Given the description of an element on the screen output the (x, y) to click on. 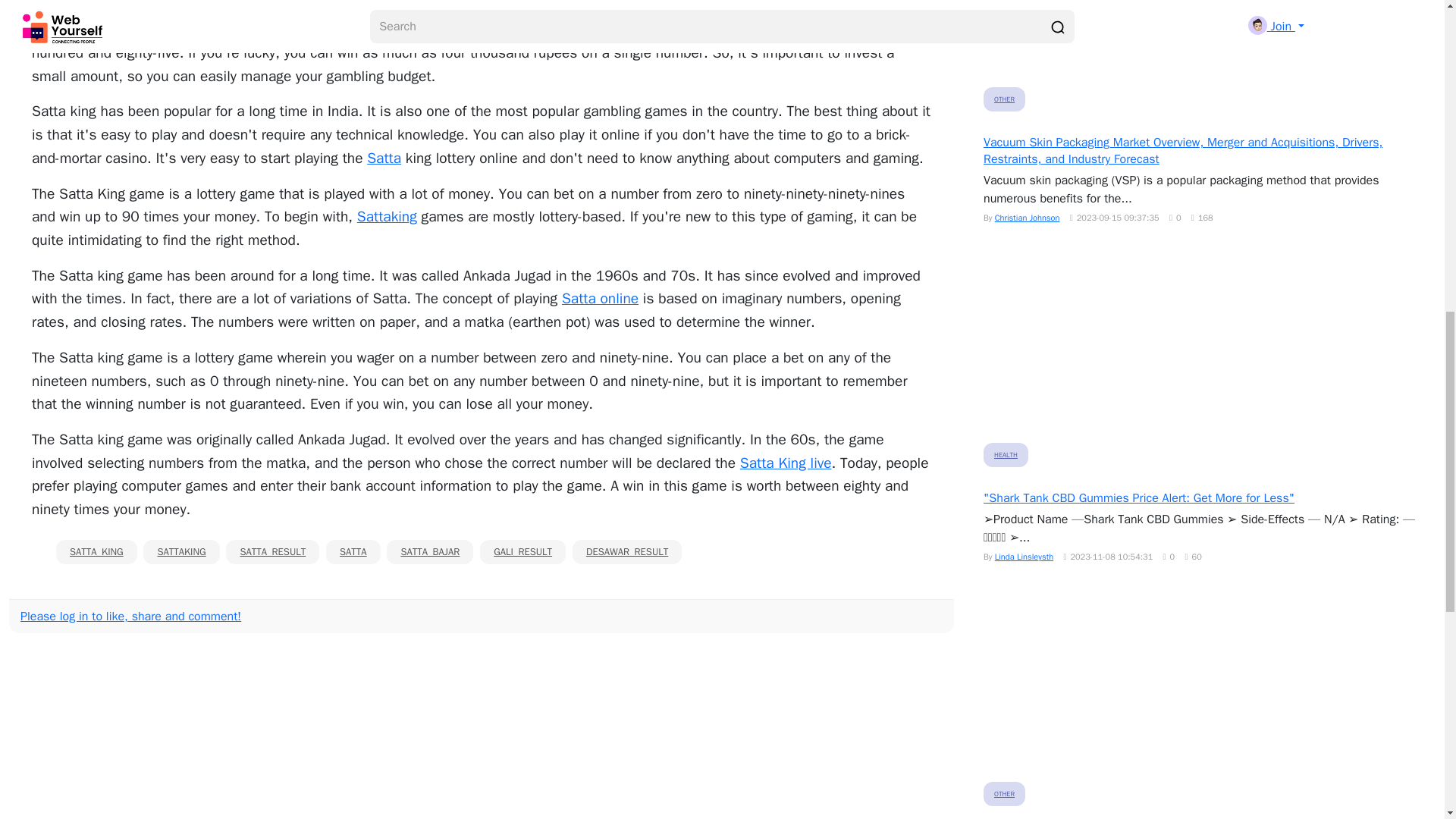
SATTAKING (180, 551)
Satta online (600, 298)
SATTA (353, 551)
Sattaking (386, 217)
Please log in to like, share and comment! (130, 616)
Satta King live (785, 463)
Satta (383, 158)
Satta King online game (205, 7)
